Given the description of an element on the screen output the (x, y) to click on. 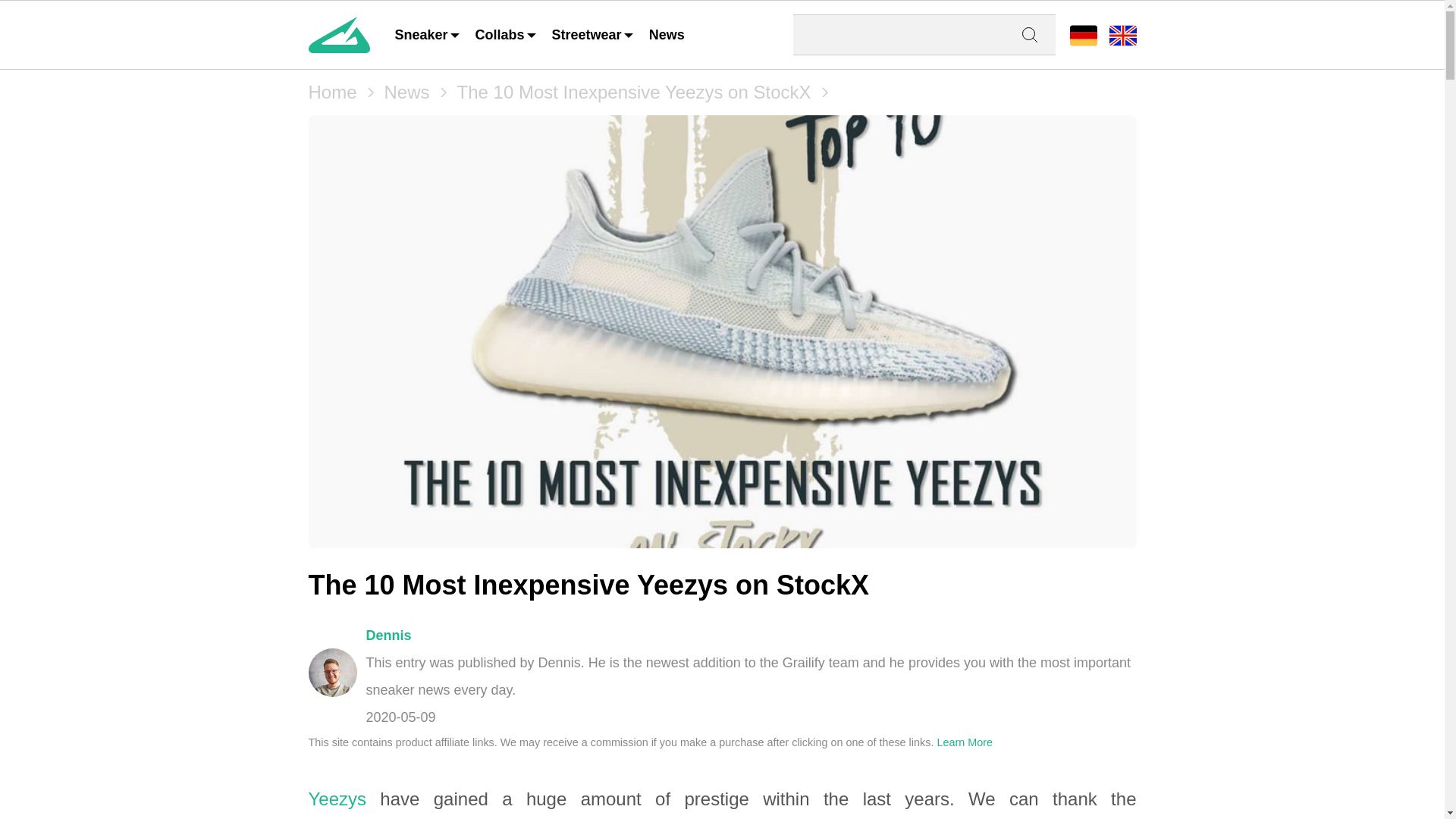
Yeezys (336, 798)
The 10 Most Inexpensive Yeezys on StockX (633, 92)
Learn More (964, 742)
Home (331, 92)
Dennis (387, 635)
Dennis (331, 672)
Collabs (507, 34)
Streetwear (592, 34)
Kanye West (508, 817)
